Given the description of an element on the screen output the (x, y) to click on. 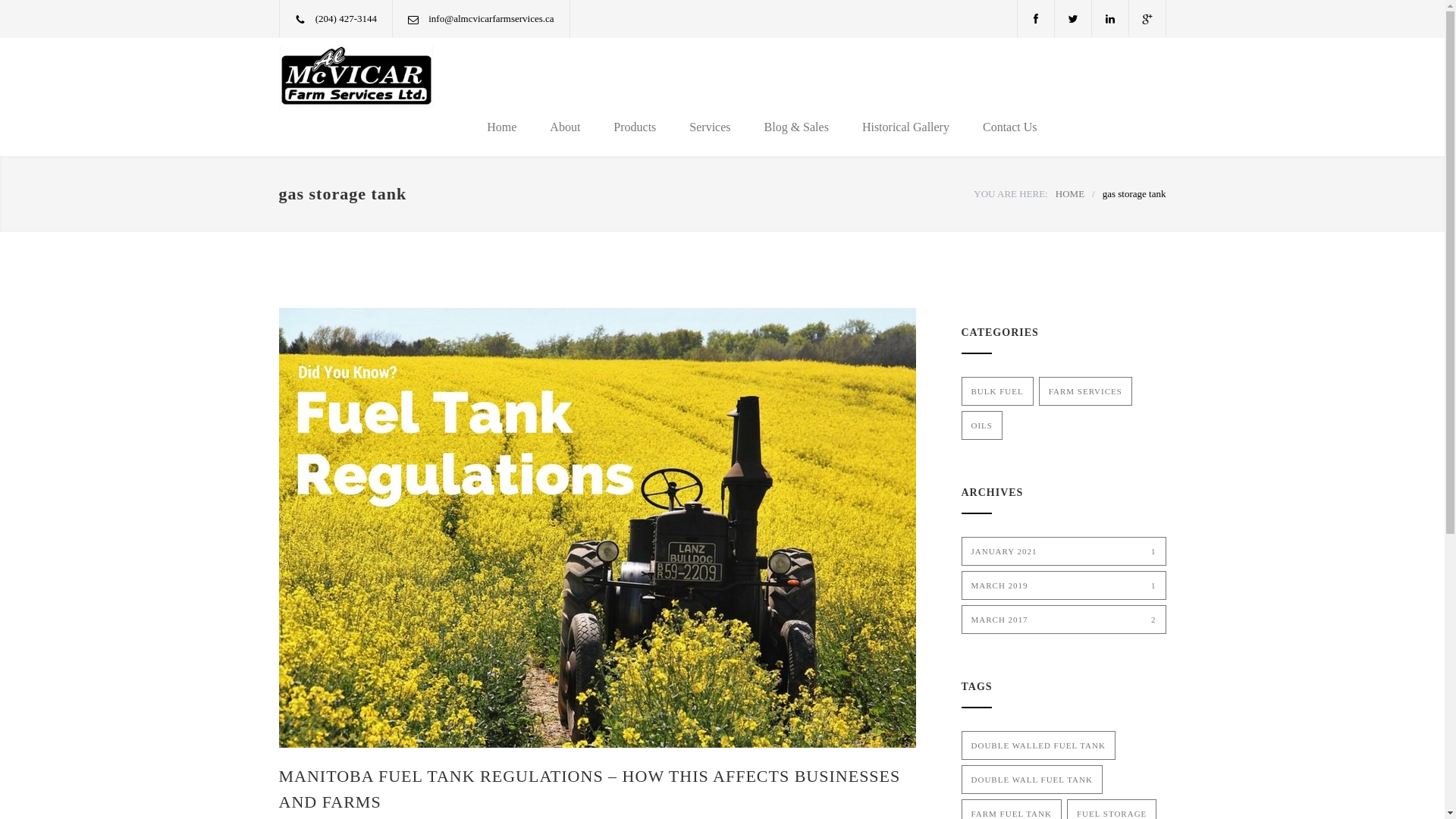
Services Element type: text (709, 127)
info@almcvicarfarmservices.ca Element type: text (490, 18)
Products Element type: text (634, 127)
Al McVicar Farm Services  Ltd. Element type: hover (362, 76)
DOUBLE WALL FUEL TANK Element type: text (1031, 779)
OILS Element type: text (981, 425)
DOUBLE WALLED FUEL TANK Element type: text (1038, 745)
Historical Gallery Element type: text (905, 127)
FARM SERVICES Element type: text (1085, 390)
MARCH 2019
1 Element type: text (1063, 585)
BULK FUEL Element type: text (997, 390)
JANUARY 2021
1 Element type: text (1063, 550)
Home Element type: text (501, 127)
HOME Element type: text (1069, 193)
Contact Us Element type: text (1001, 127)
Blog & Sales Element type: text (796, 127)
MARCH 2017
2 Element type: text (1063, 619)
About Element type: text (564, 127)
